Given the description of an element on the screen output the (x, y) to click on. 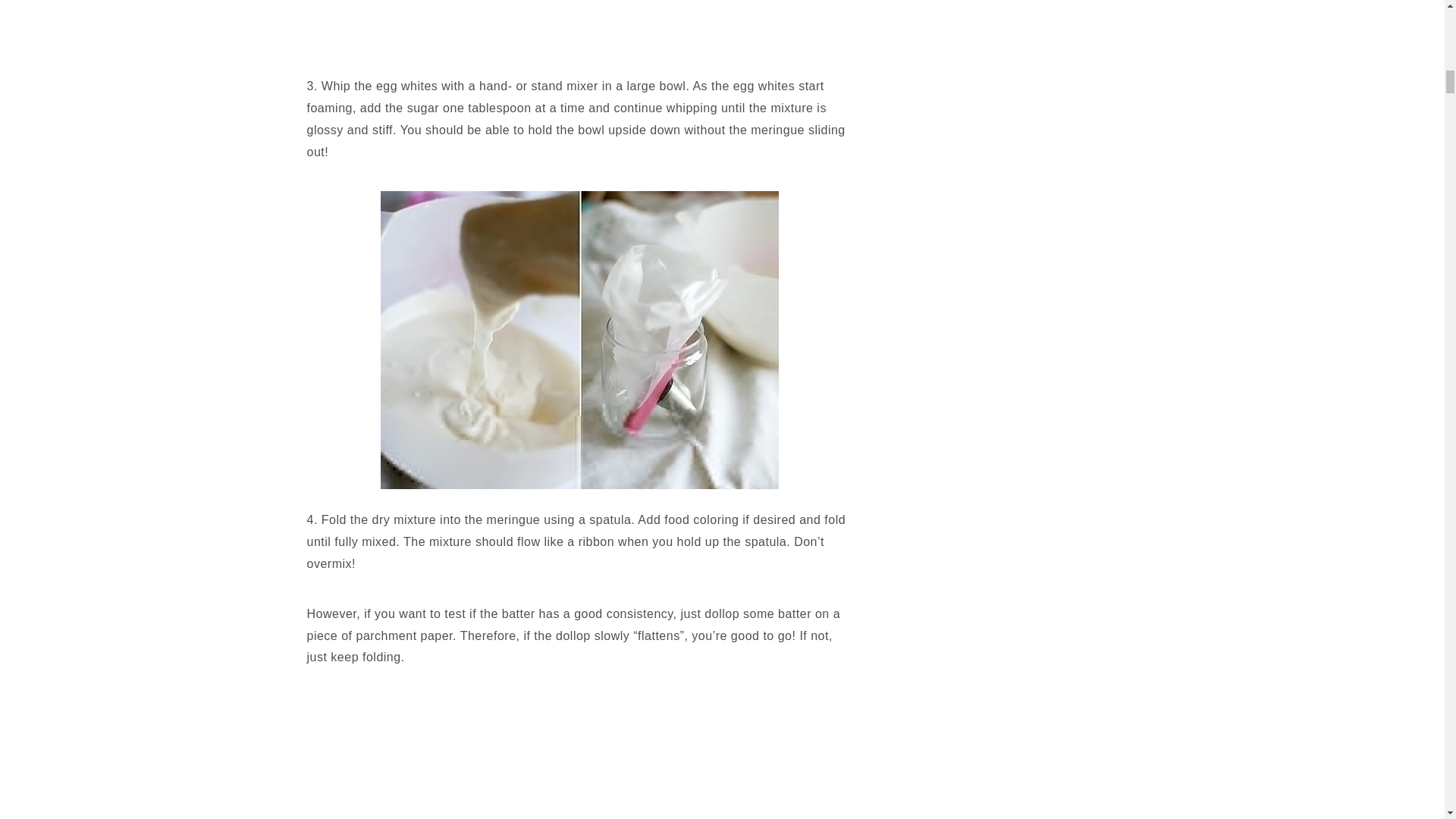
4 (579, 339)
